Given the description of an element on the screen output the (x, y) to click on. 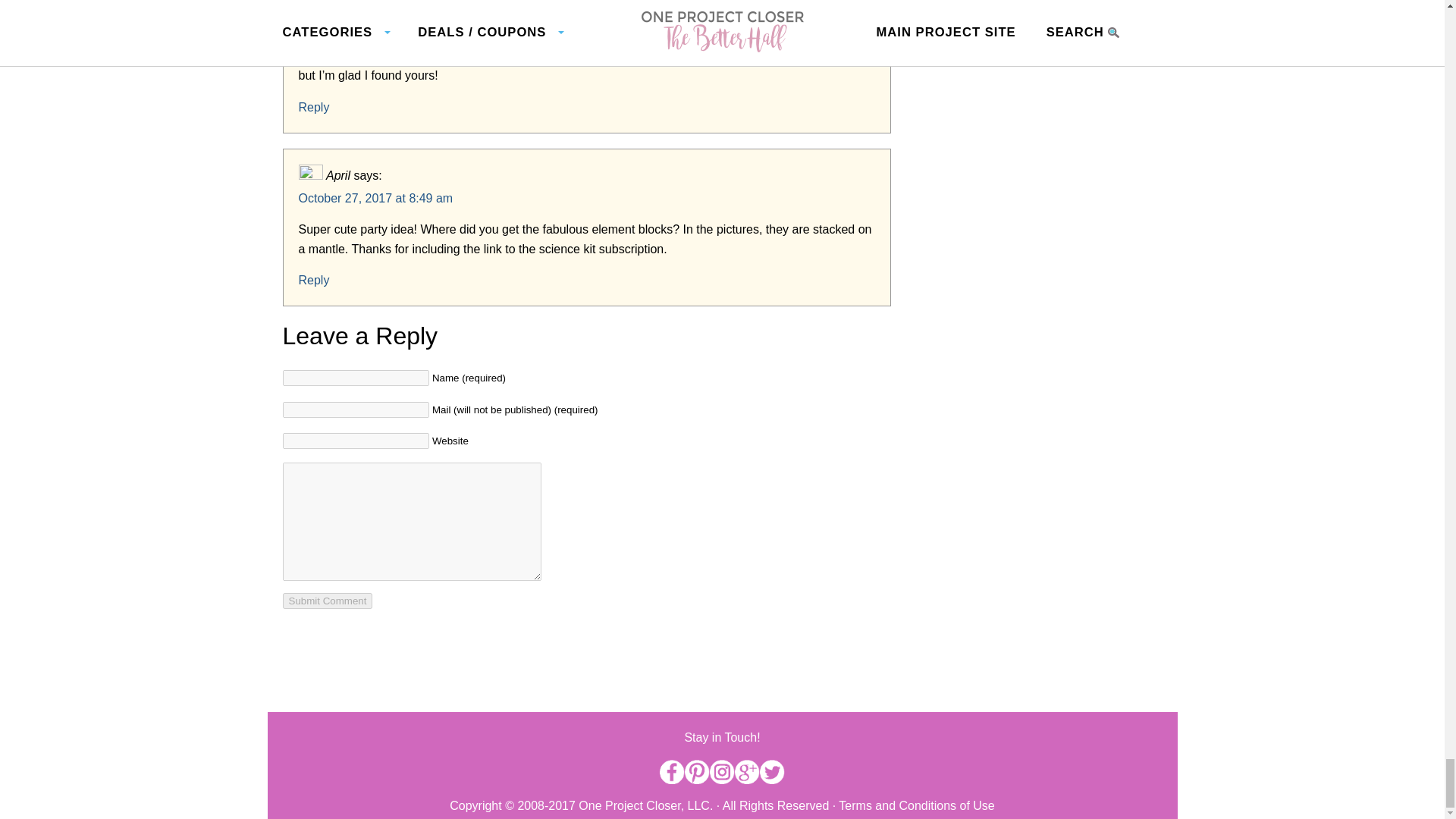
Submit Comment (327, 600)
